Given the description of an element on the screen output the (x, y) to click on. 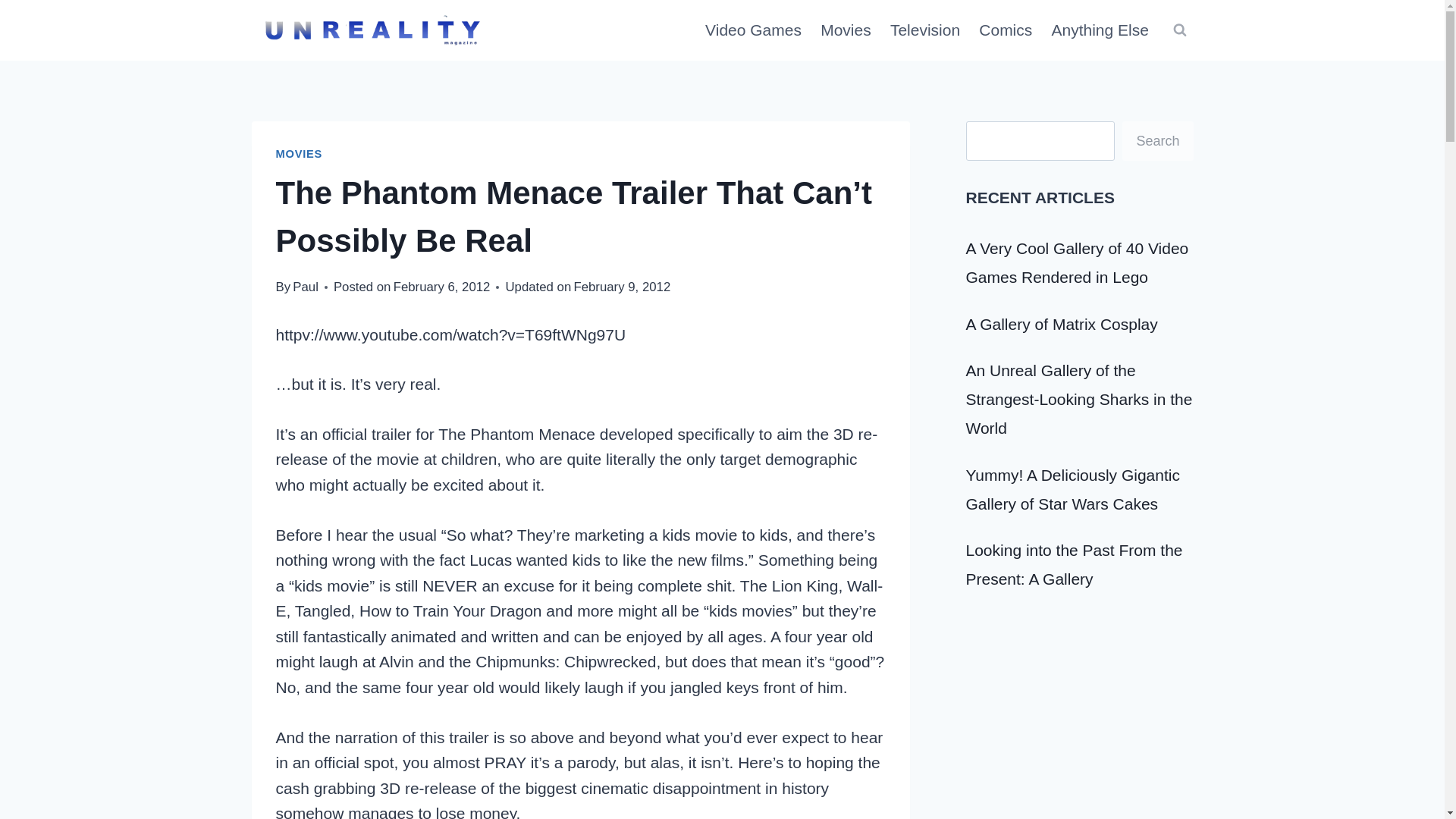
Television (924, 30)
Paul (305, 287)
Movies (845, 30)
MOVIES (299, 153)
Video Games (752, 30)
Comics (1005, 30)
Anything Else (1100, 30)
